Given the description of an element on the screen output the (x, y) to click on. 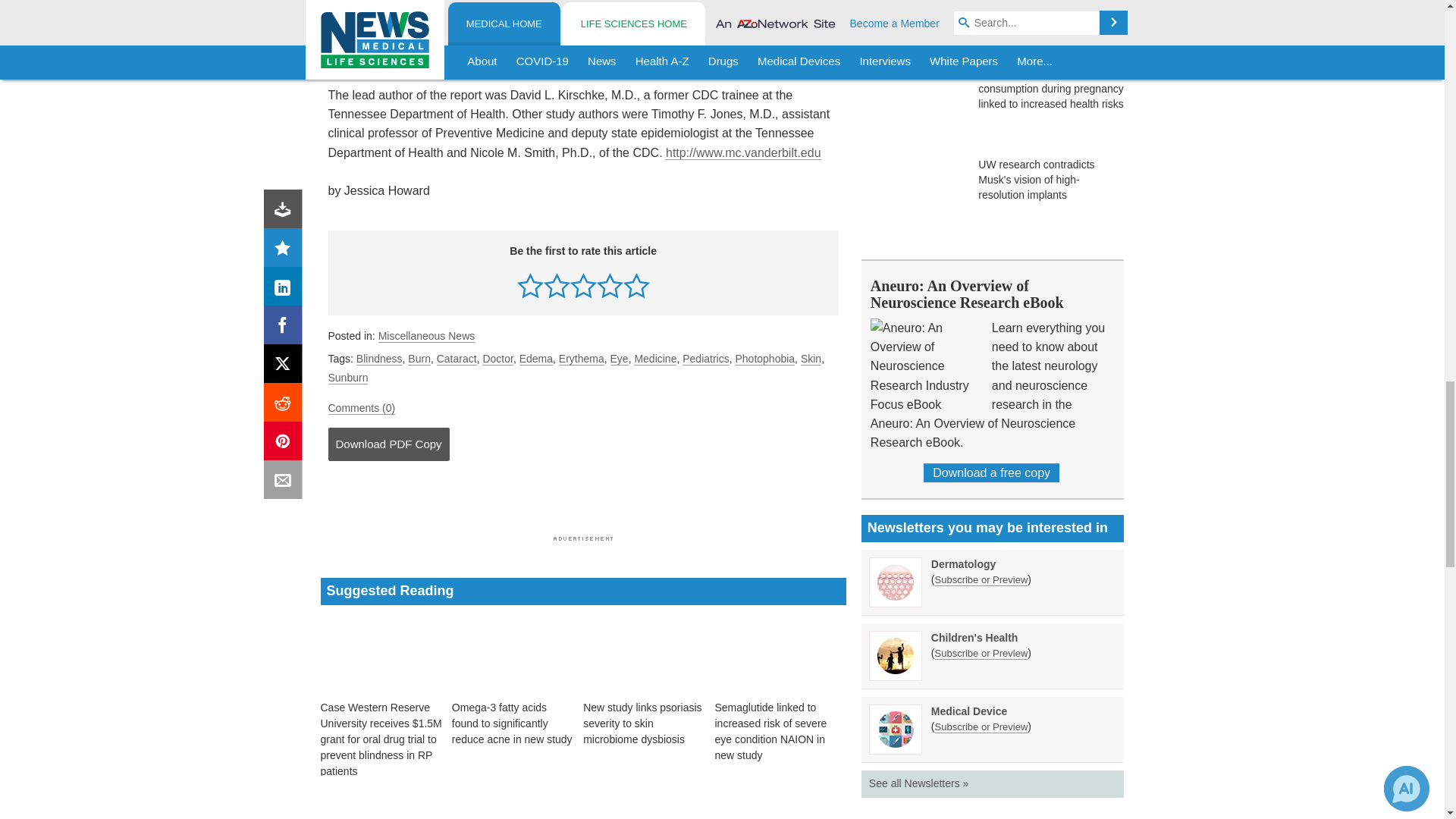
Rate this 5 stars out of 5 (636, 284)
Rate this 4 stars out of 5 (609, 284)
